Given the description of an element on the screen output the (x, y) to click on. 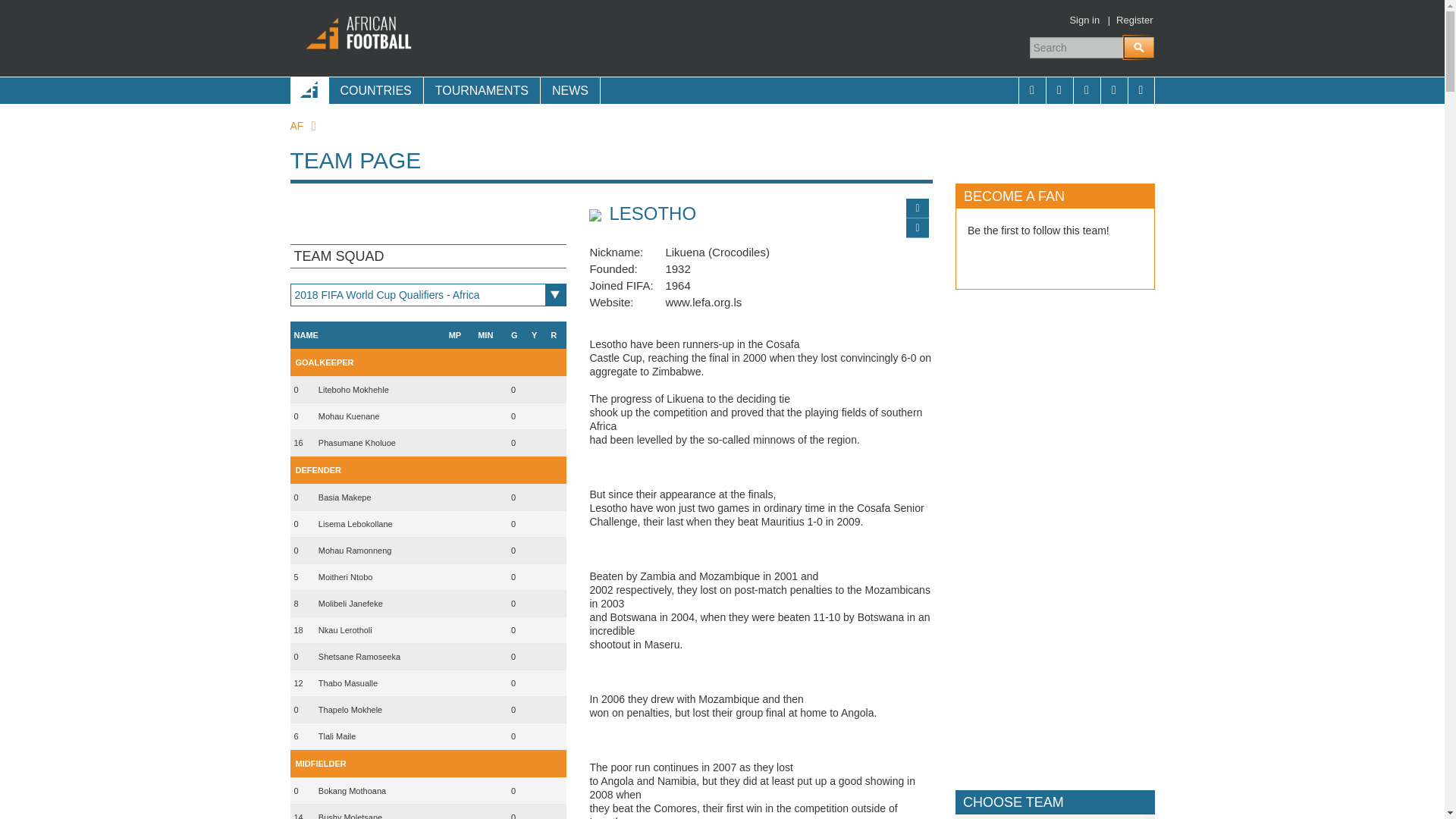
TOURNAMENTS (481, 90)
Sign in (1083, 19)
COUNTRIES (374, 90)
Register (1134, 19)
NEWS (569, 90)
